Given the description of an element on the screen output the (x, y) to click on. 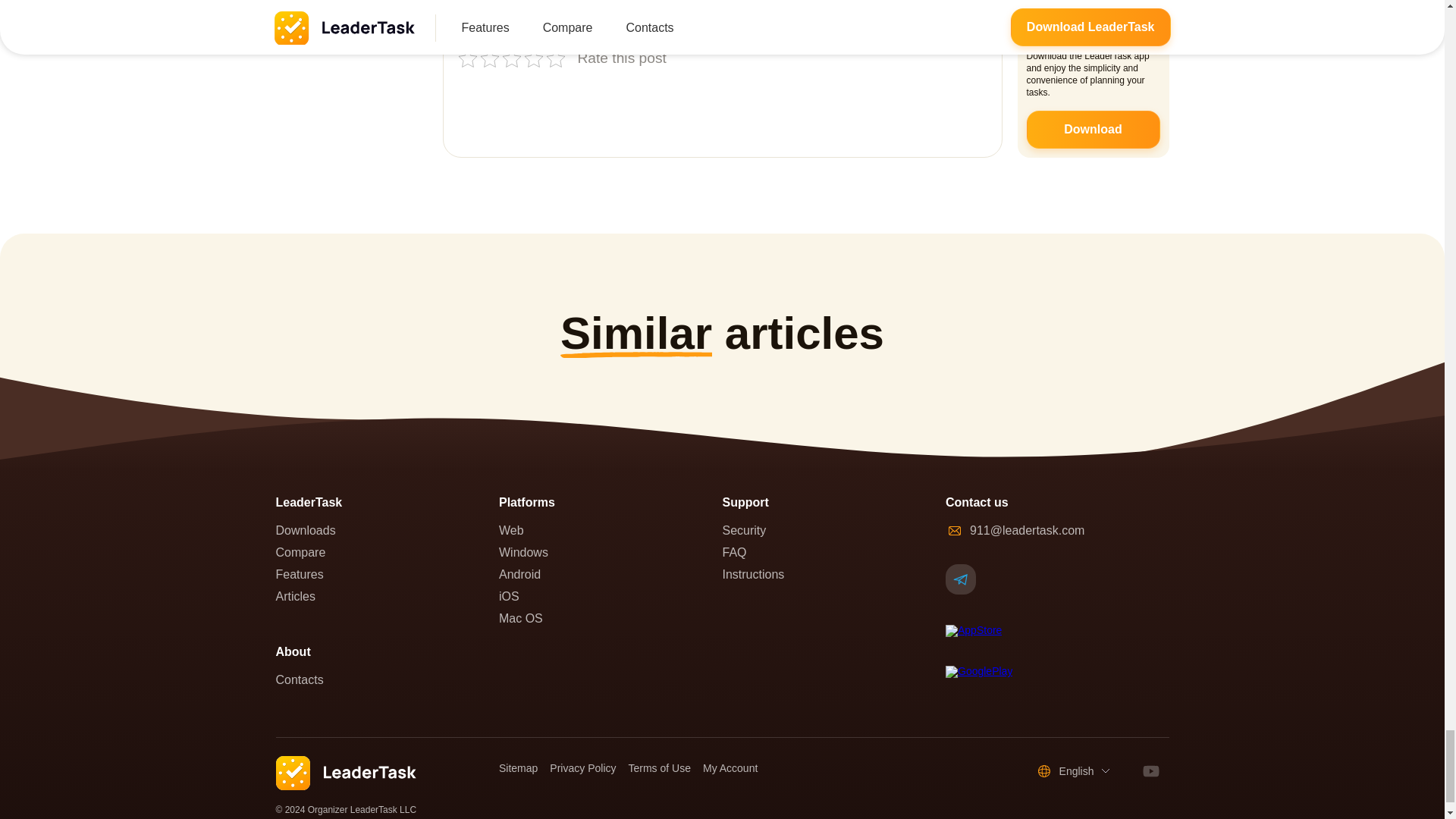
Web (610, 530)
iOS (610, 596)
Features (387, 574)
Instructions (833, 574)
Windows (610, 552)
Android (610, 574)
Mac OS (610, 618)
Downloads (387, 530)
Articles (387, 596)
FAQ (833, 552)
Security (833, 530)
Compare (387, 552)
